Given the description of an element on the screen output the (x, y) to click on. 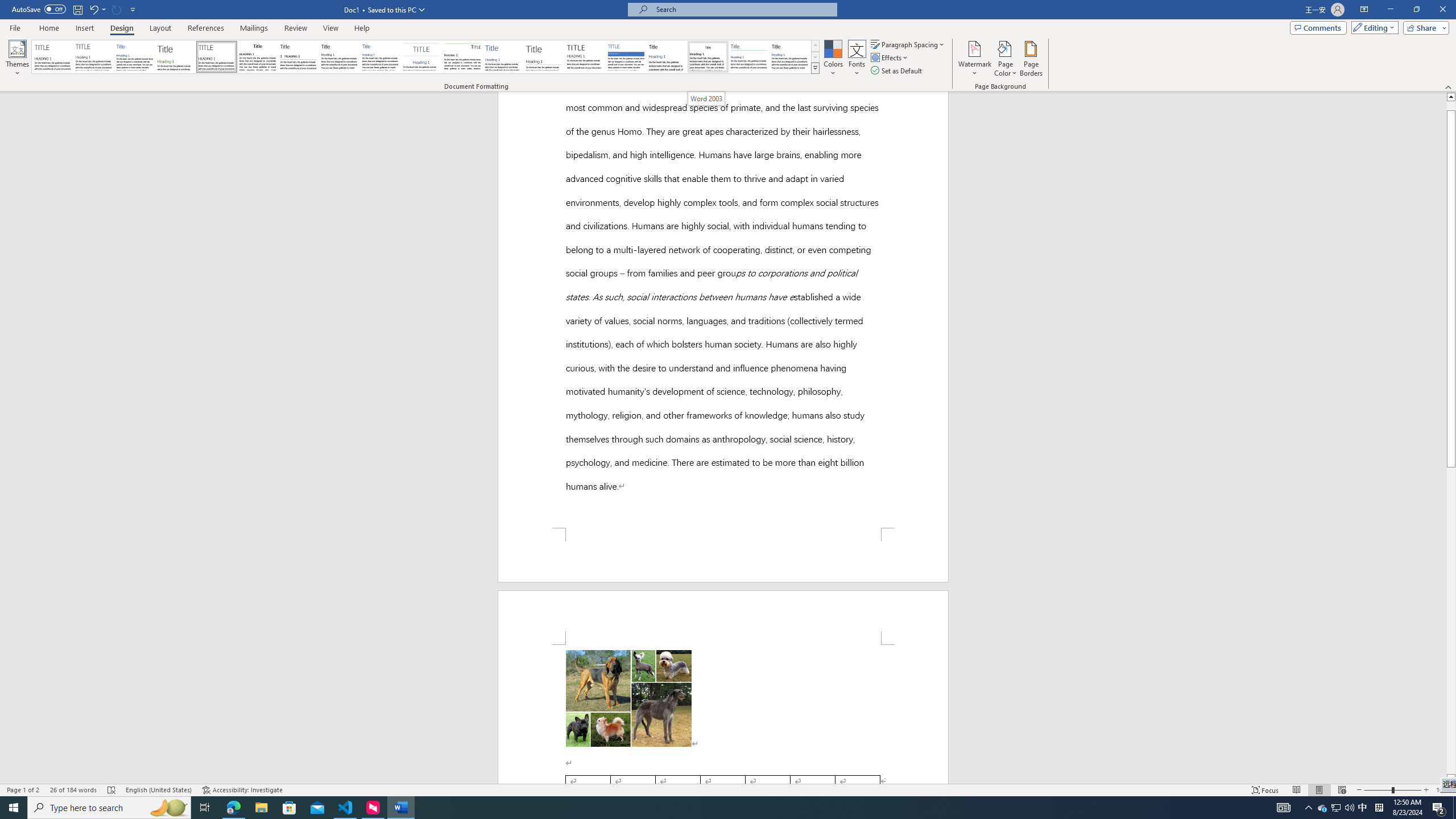
Style Set (814, 67)
Shaded (625, 56)
Undo Apply Quick Style Set (92, 9)
Page Borders... (1031, 58)
Line up (1450, 96)
Page Color (1005, 58)
Basic (Simple) (135, 56)
Lines (Distinctive) (462, 56)
